Given the description of an element on the screen output the (x, y) to click on. 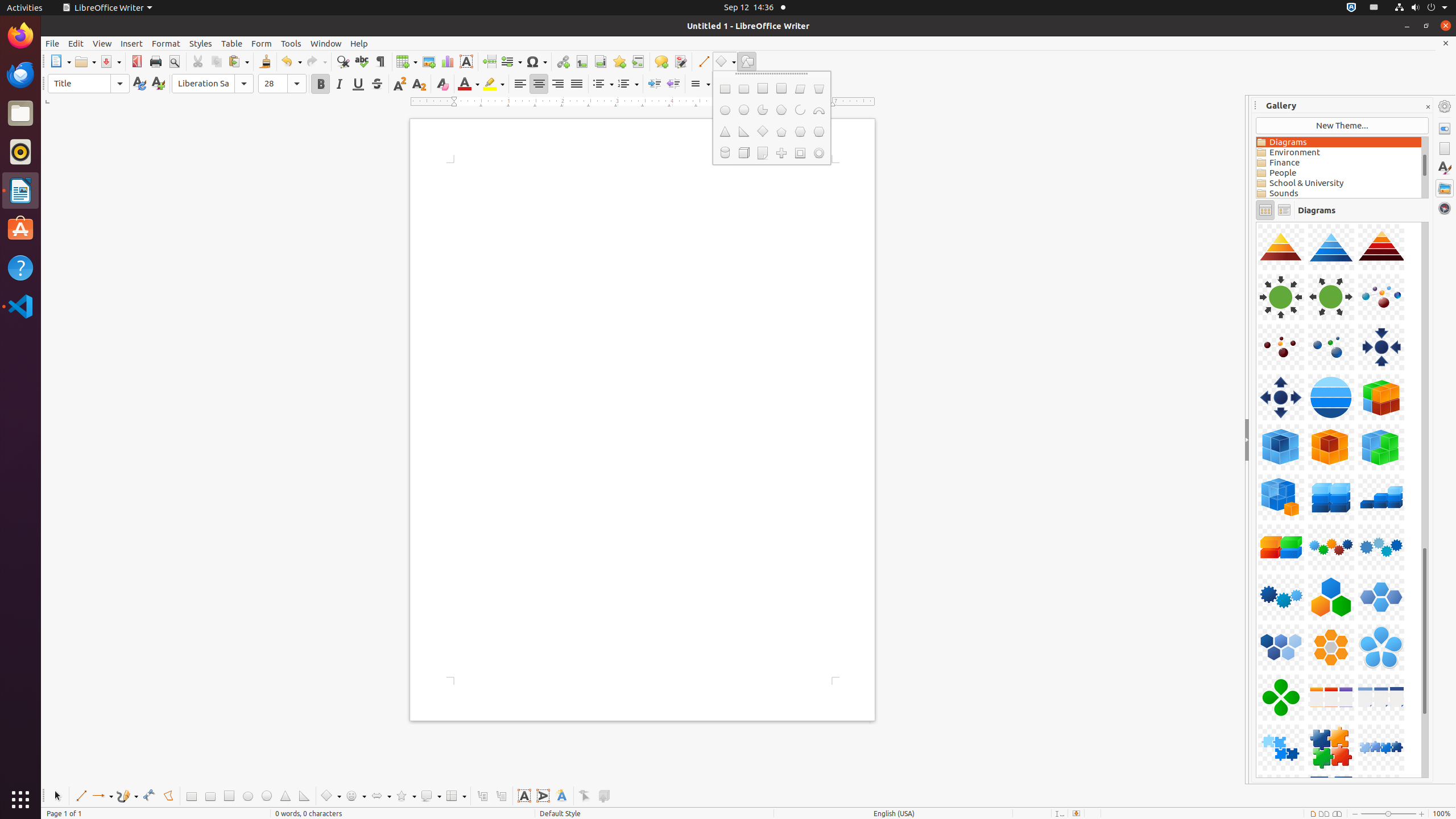
Page Break Element type: push-button (489, 61)
Component-Circle05-Transparent-Red Element type: list-item (1256, 222)
Square, Rounded Element type: toggle-button (780, 88)
Component-Cuboid05-Red Element type: list-item (1256, 222)
Icon View Element type: toggle-button (1264, 210)
